Given the description of an element on the screen output the (x, y) to click on. 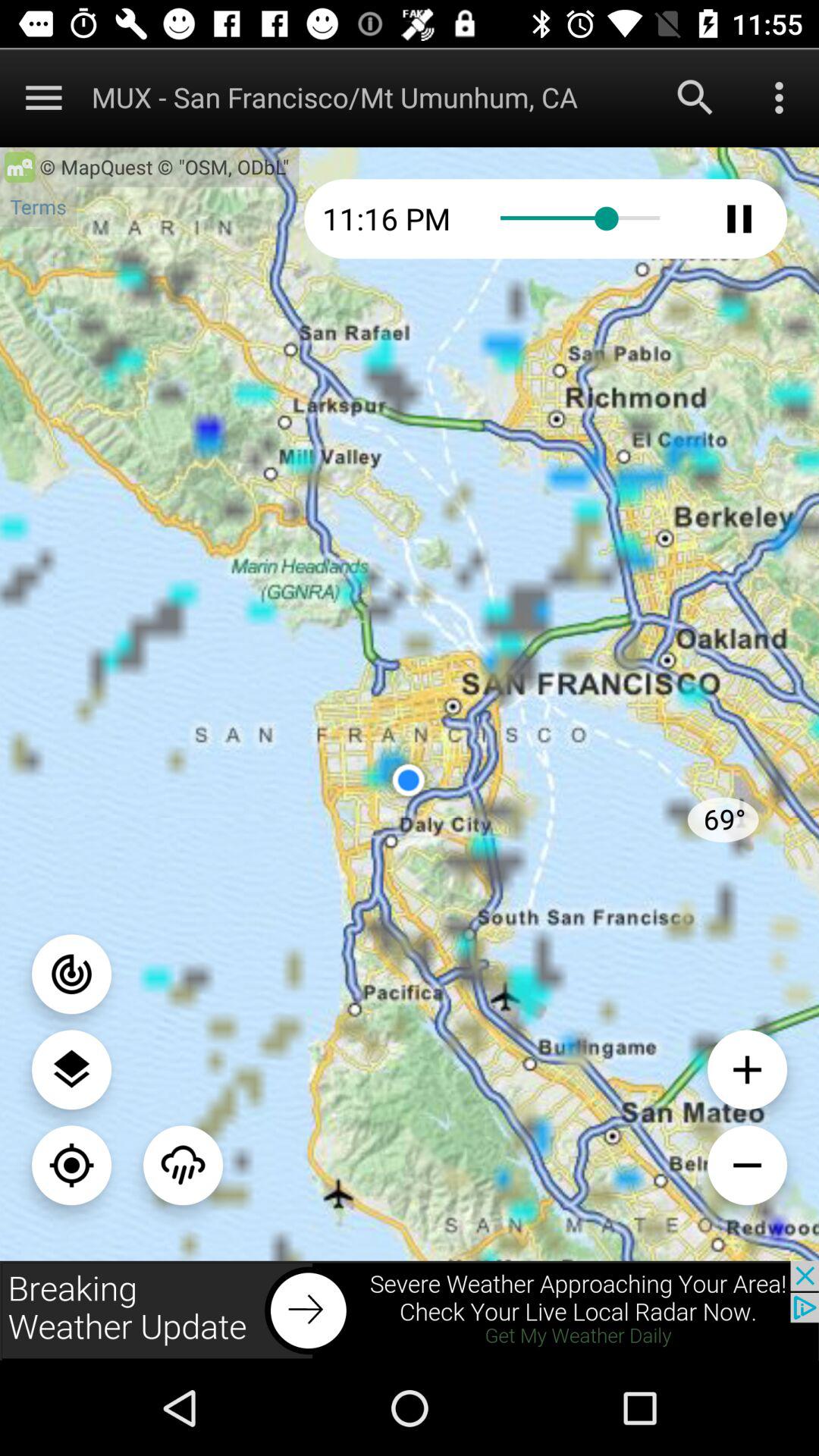
toggle to more options open to more options (779, 97)
